Given the description of an element on the screen output the (x, y) to click on. 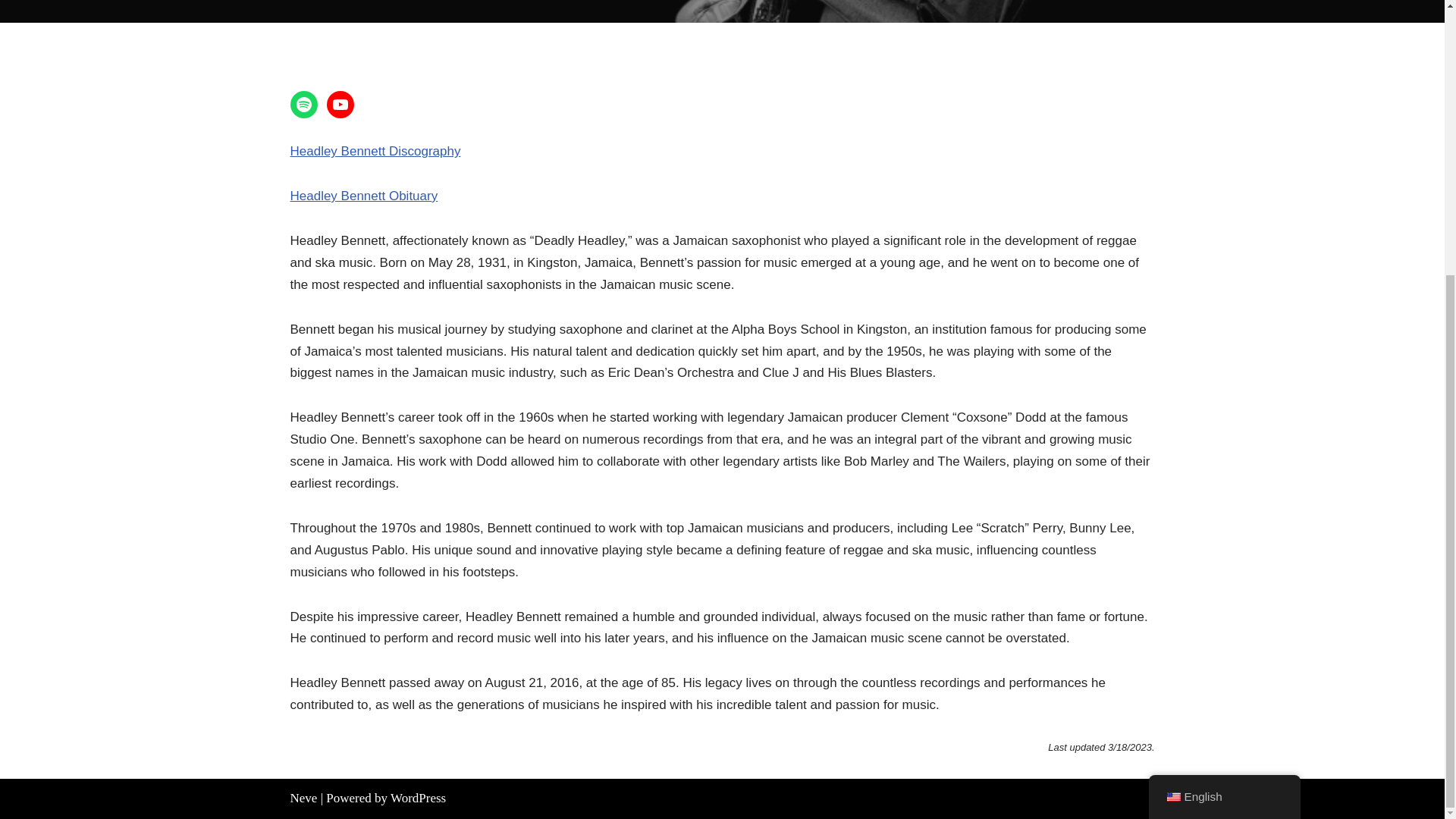
Neve (303, 798)
Headley Bennett Obituary (363, 196)
Headley Bennett Obituary (363, 196)
Headley Bennett Discography (374, 151)
English (1224, 390)
WordPress (417, 798)
English (1172, 389)
Headley Bennett Discography (374, 151)
